Given the description of an element on the screen output the (x, y) to click on. 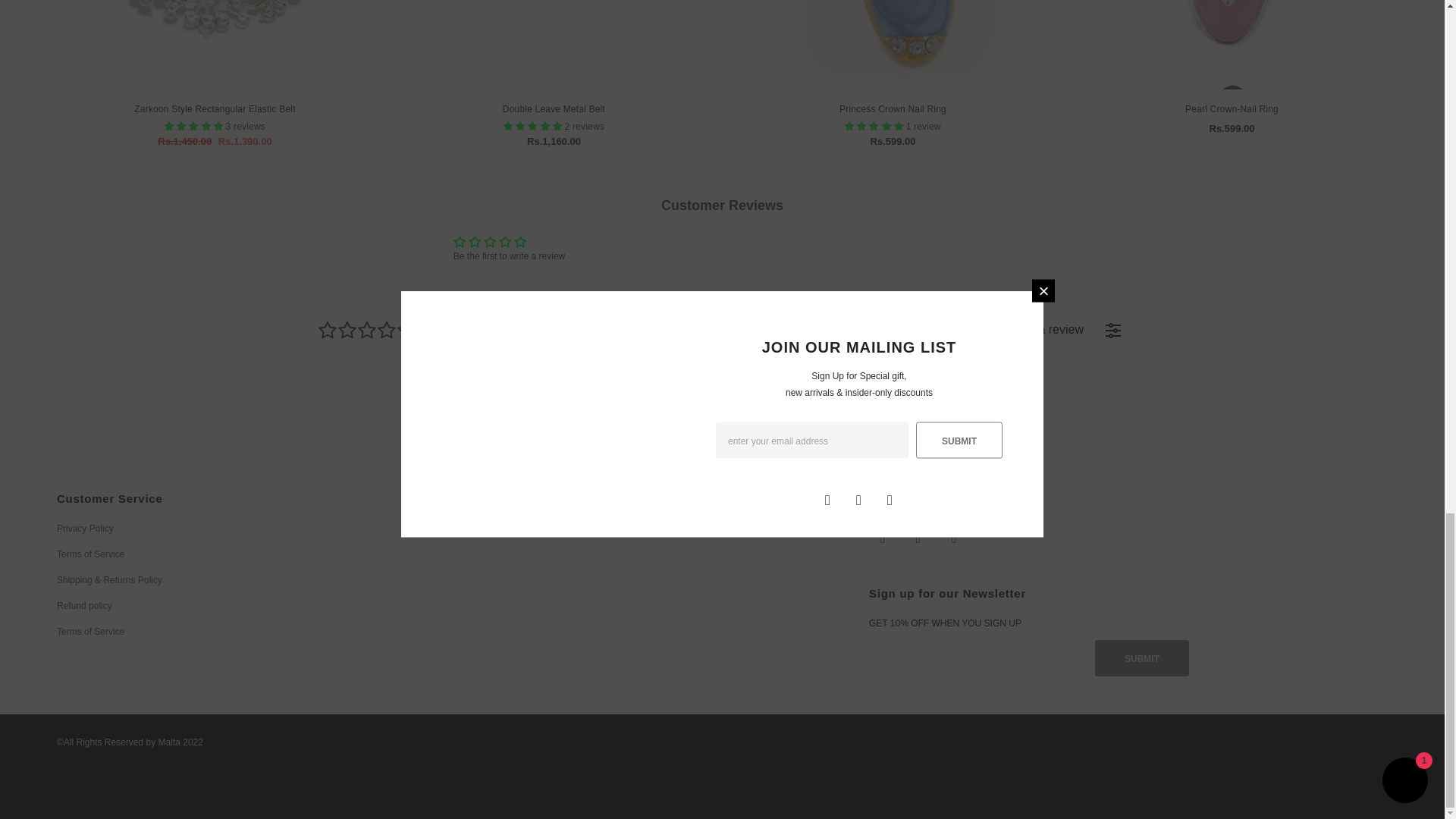
Submit (1141, 657)
